Given the description of an element on the screen output the (x, y) to click on. 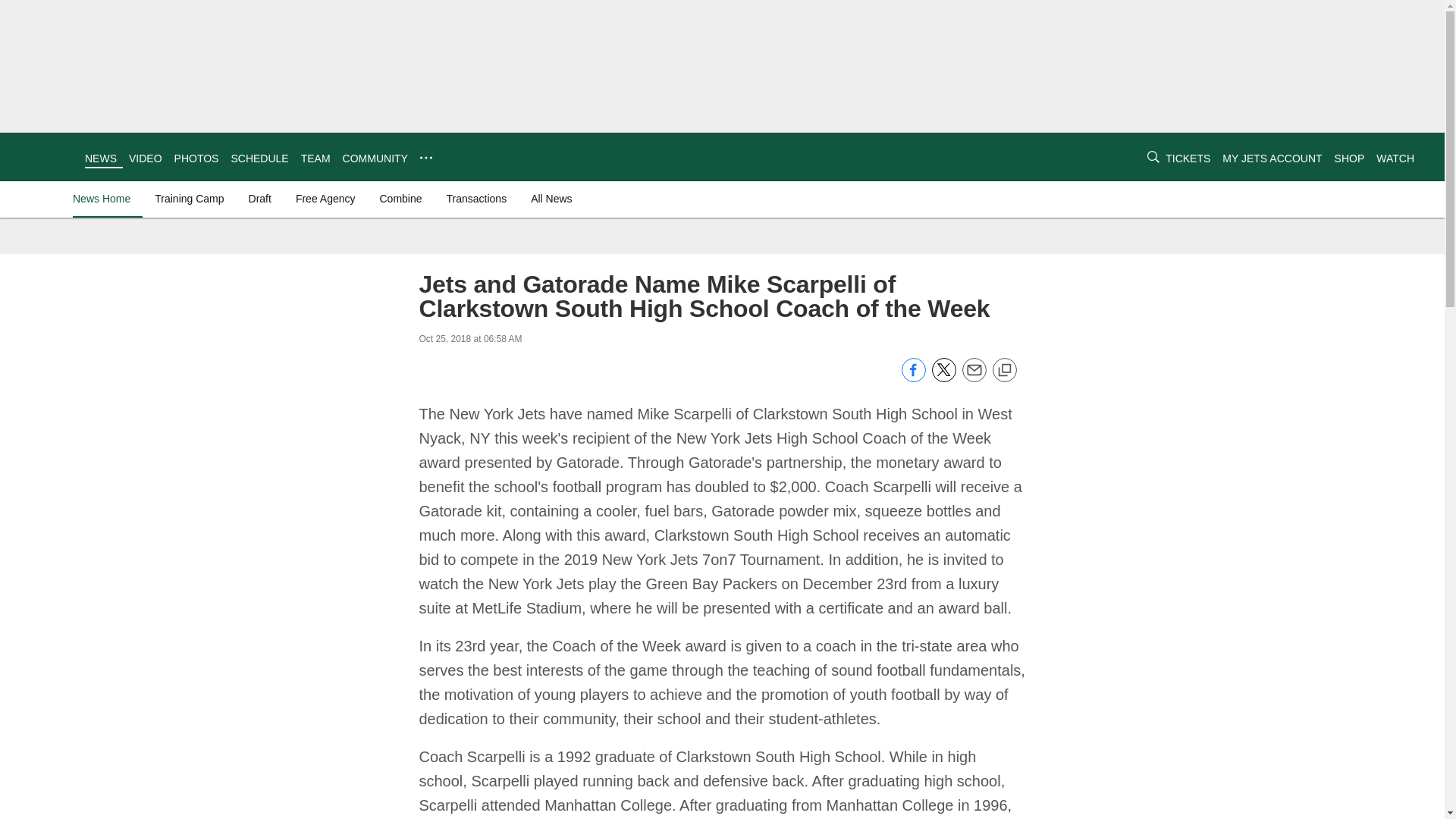
PHOTOS (196, 158)
Draft (260, 198)
SCHEDULE (259, 158)
COMMUNITY (374, 158)
VIDEO (145, 158)
MY JETS ACCOUNT (1272, 158)
... (426, 157)
Free Agency (325, 198)
VIDEO (145, 158)
Transactions (477, 198)
